Given the description of an element on the screen output the (x, y) to click on. 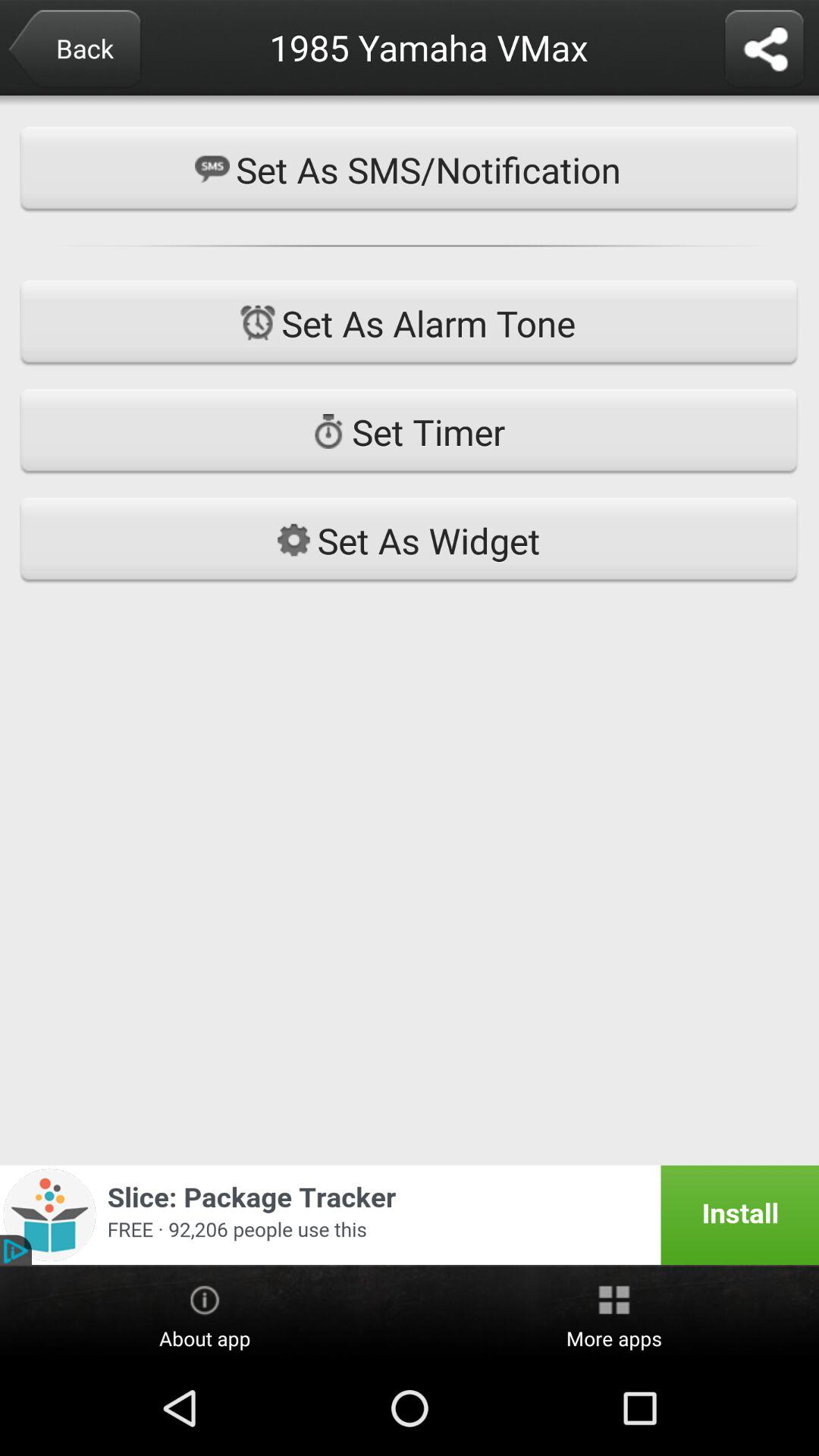
select add (409, 1214)
